Given the description of an element on the screen output the (x, y) to click on. 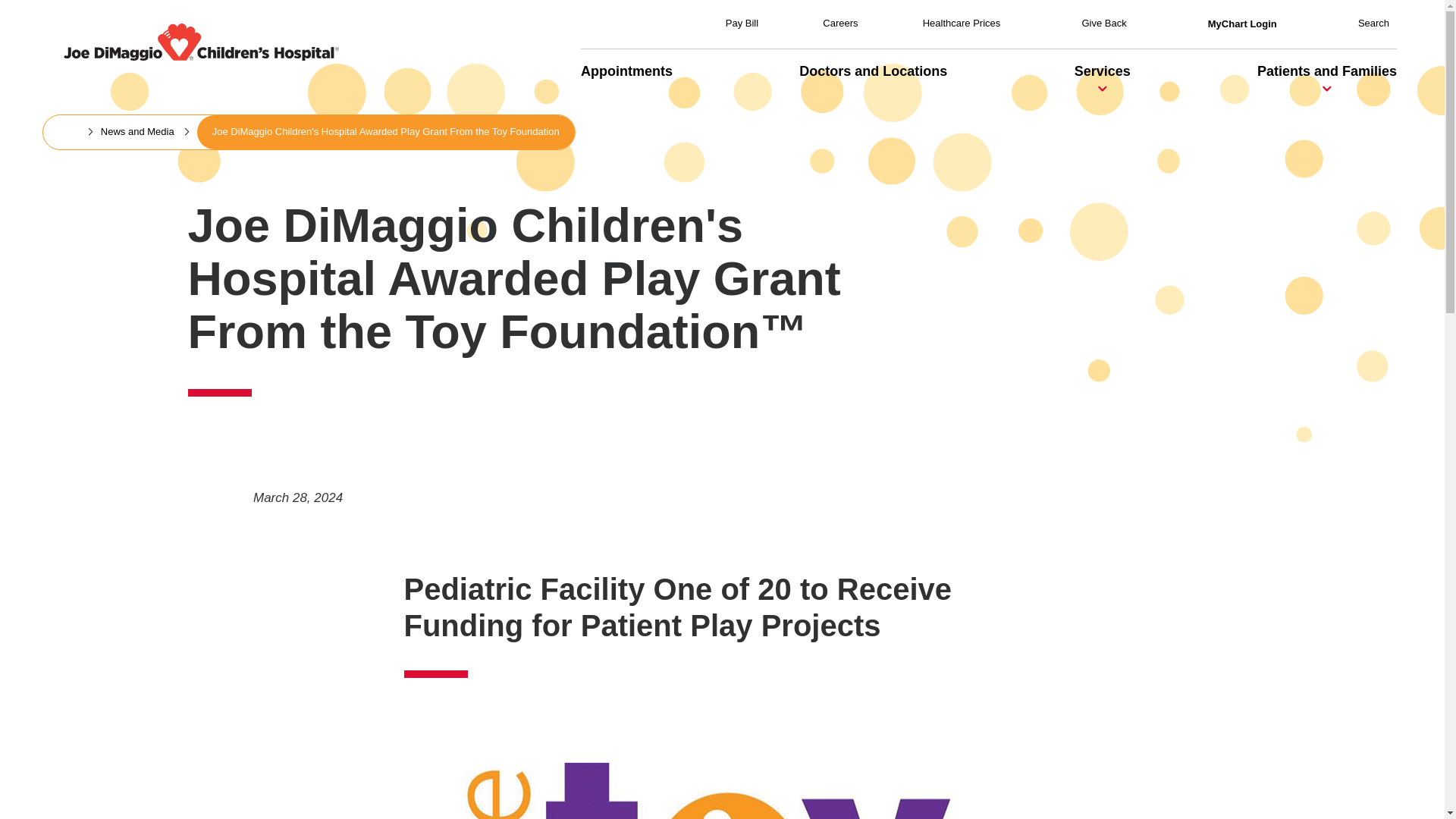
Services (1102, 71)
Search (1373, 23)
Patients and Families (1326, 71)
Doctors and Locations (873, 71)
Careers (839, 23)
Give Back (1103, 23)
Appointments (626, 71)
Pay Bill (741, 23)
Healthcare Prices (962, 23)
